Given the description of an element on the screen output the (x, y) to click on. 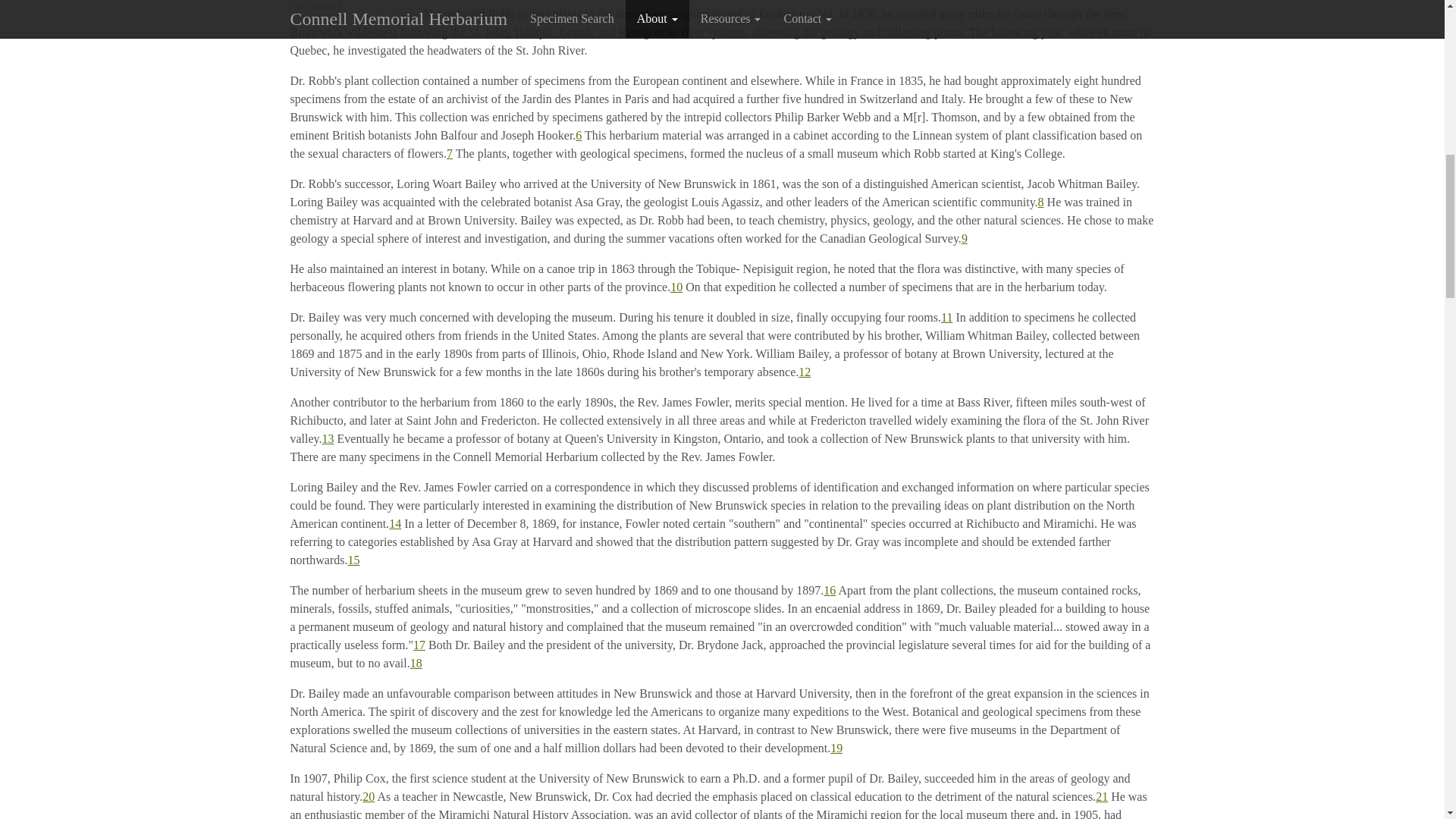
13 (327, 438)
14 (394, 522)
10 (675, 286)
12 (803, 371)
15 (353, 559)
